Given the description of an element on the screen output the (x, y) to click on. 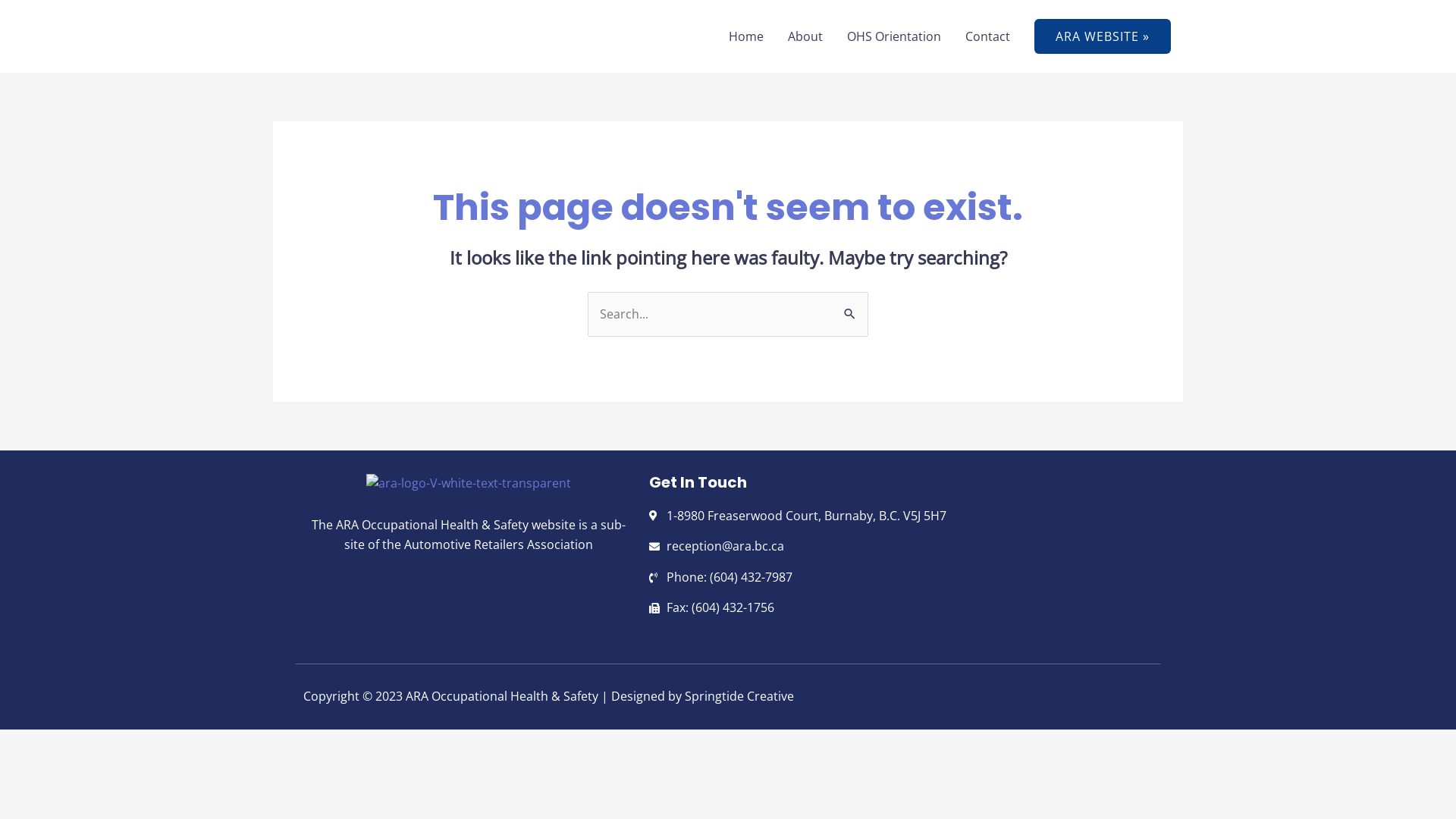
Home Element type: text (745, 36)
Search Element type: text (851, 307)
About Element type: text (804, 36)
Contact Element type: text (987, 36)
reception@ara.bc.ca Element type: text (900, 546)
OHS Orientation Element type: text (893, 36)
